Given the description of an element on the screen output the (x, y) to click on. 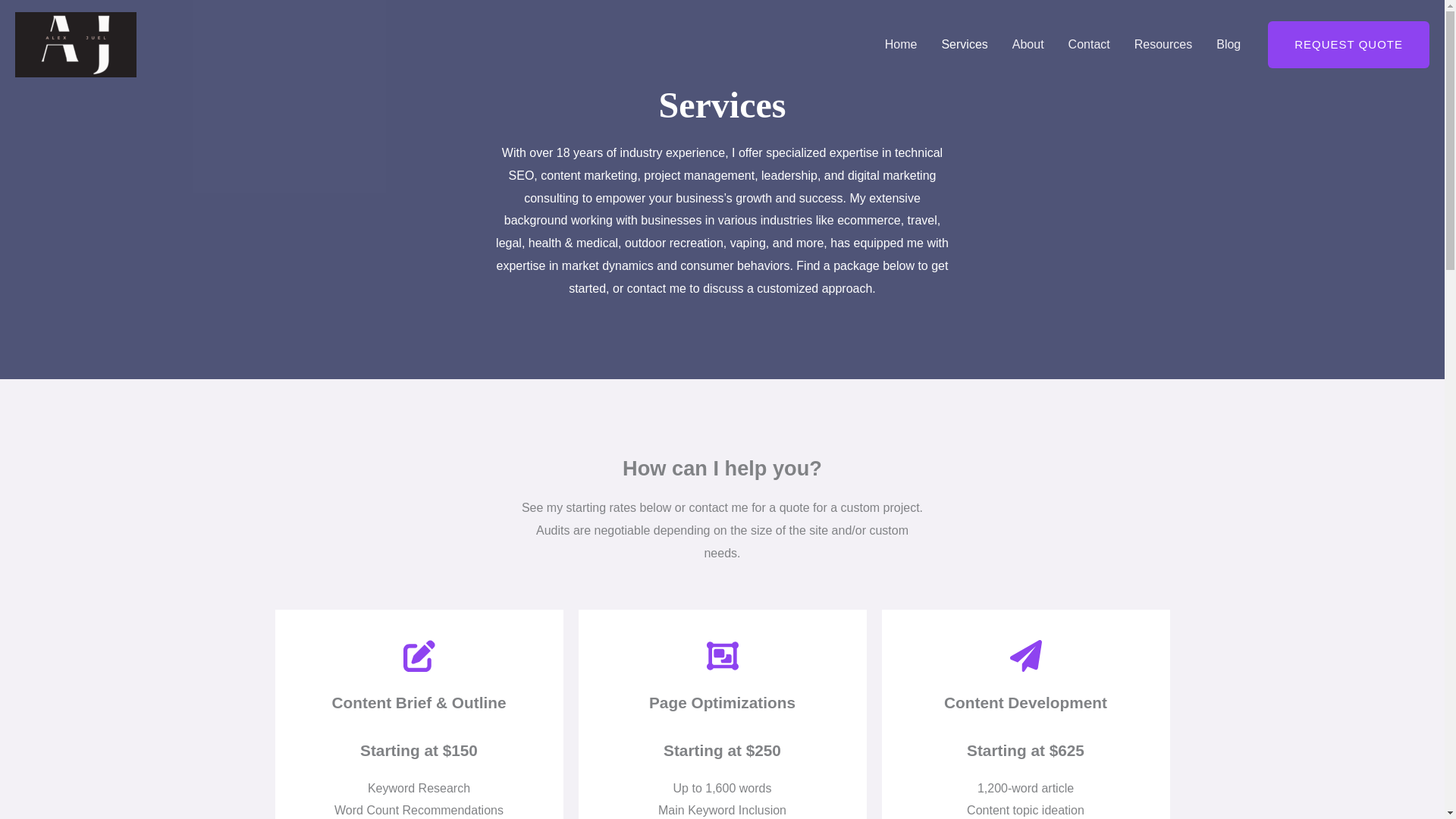
Home (901, 44)
About (1028, 44)
REQUEST QUOTE (1348, 44)
Services (963, 44)
Resources (1163, 44)
Blog (1228, 44)
Contact (1089, 44)
